Given the description of an element on the screen output the (x, y) to click on. 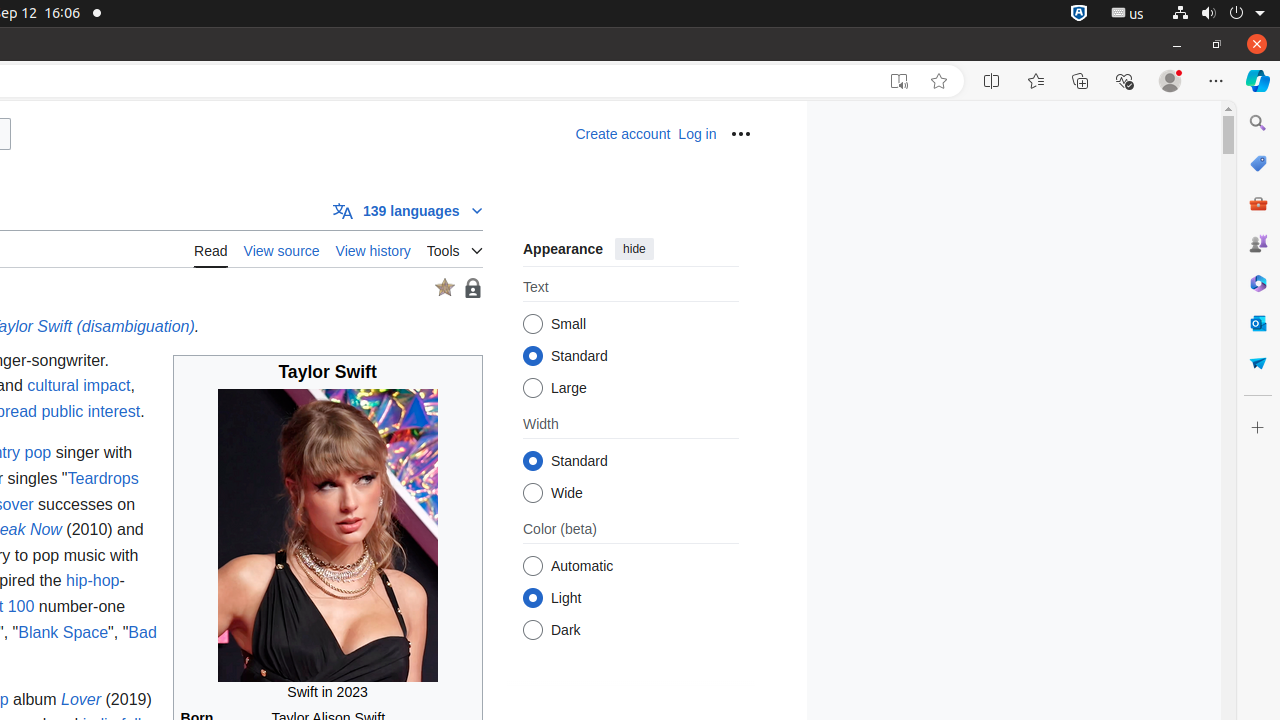
Tools Element type: push-button (454, 247)
Automatic Element type: radio-button (532, 566)
Split screen Element type: push-button (992, 81)
Read Element type: link (211, 248)
Profile 1 Profile, Please sign in Element type: push-button (1170, 81)
